Given the description of an element on the screen output the (x, y) to click on. 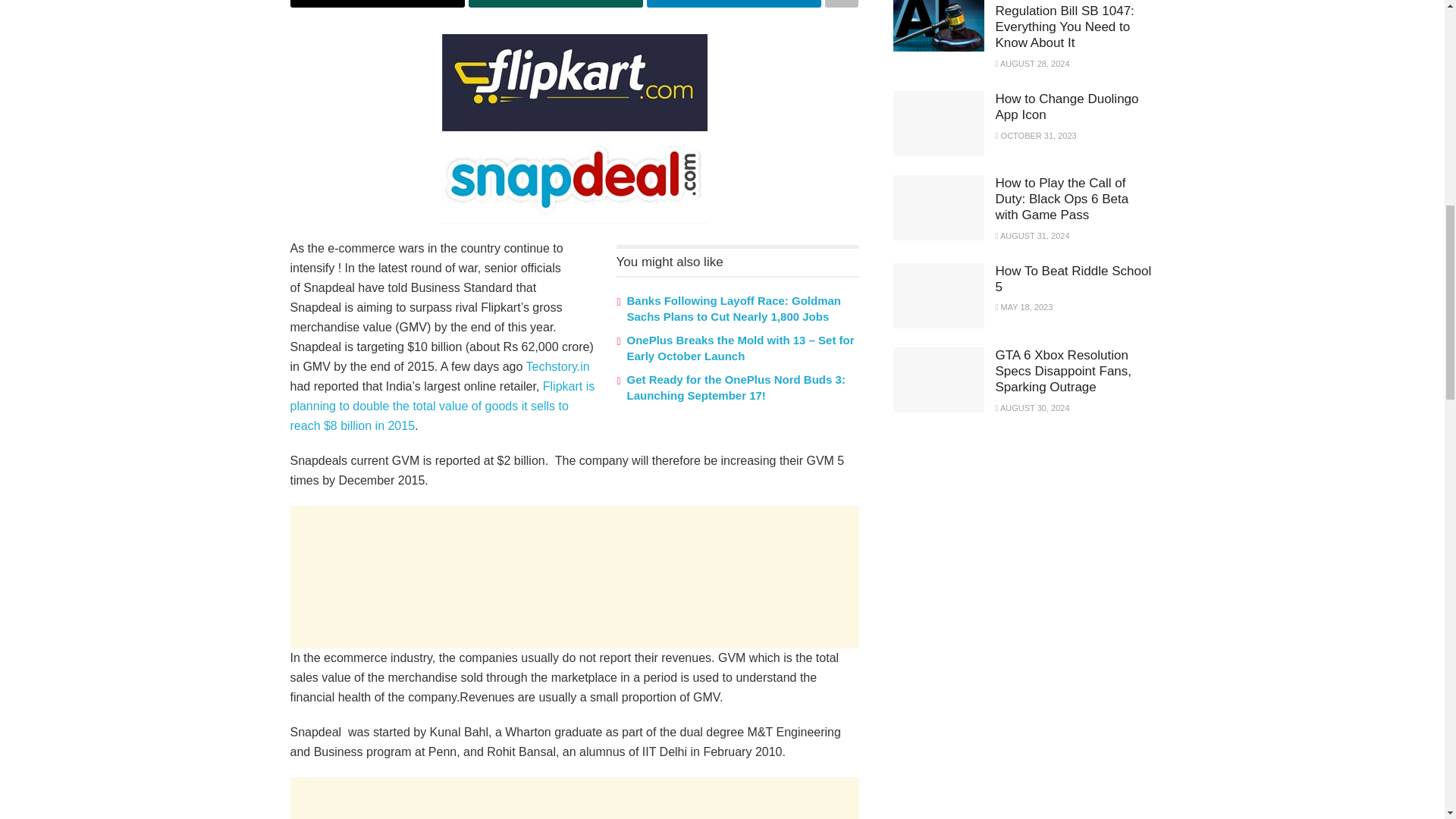
Advertisement (574, 798)
Advertisement (1007, 541)
Advertisement (574, 577)
